Given the description of an element on the screen output the (x, y) to click on. 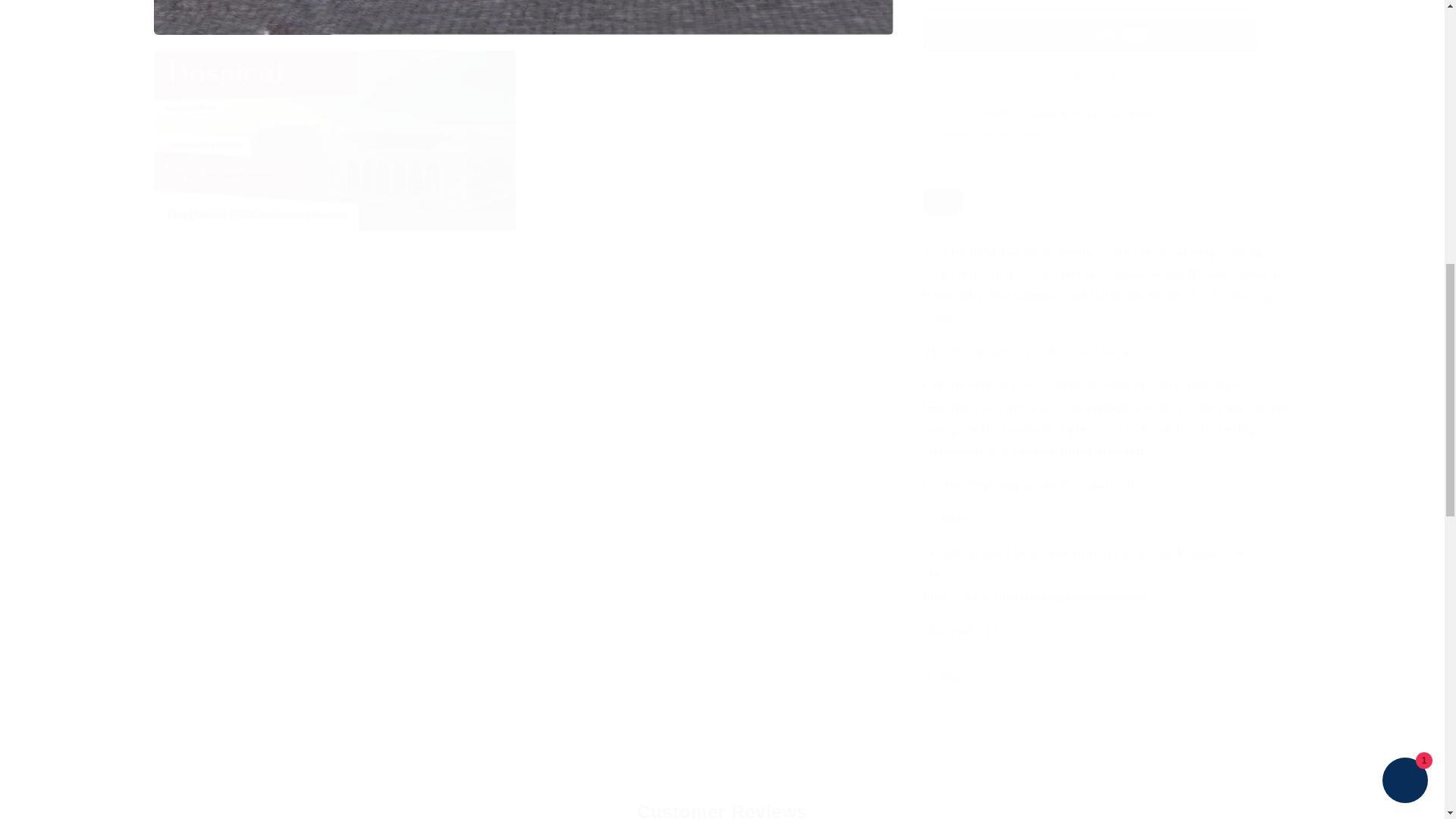
Open media 1 in modal (522, 17)
Open media 2 in modal (333, 139)
